Given the description of an element on the screen output the (x, y) to click on. 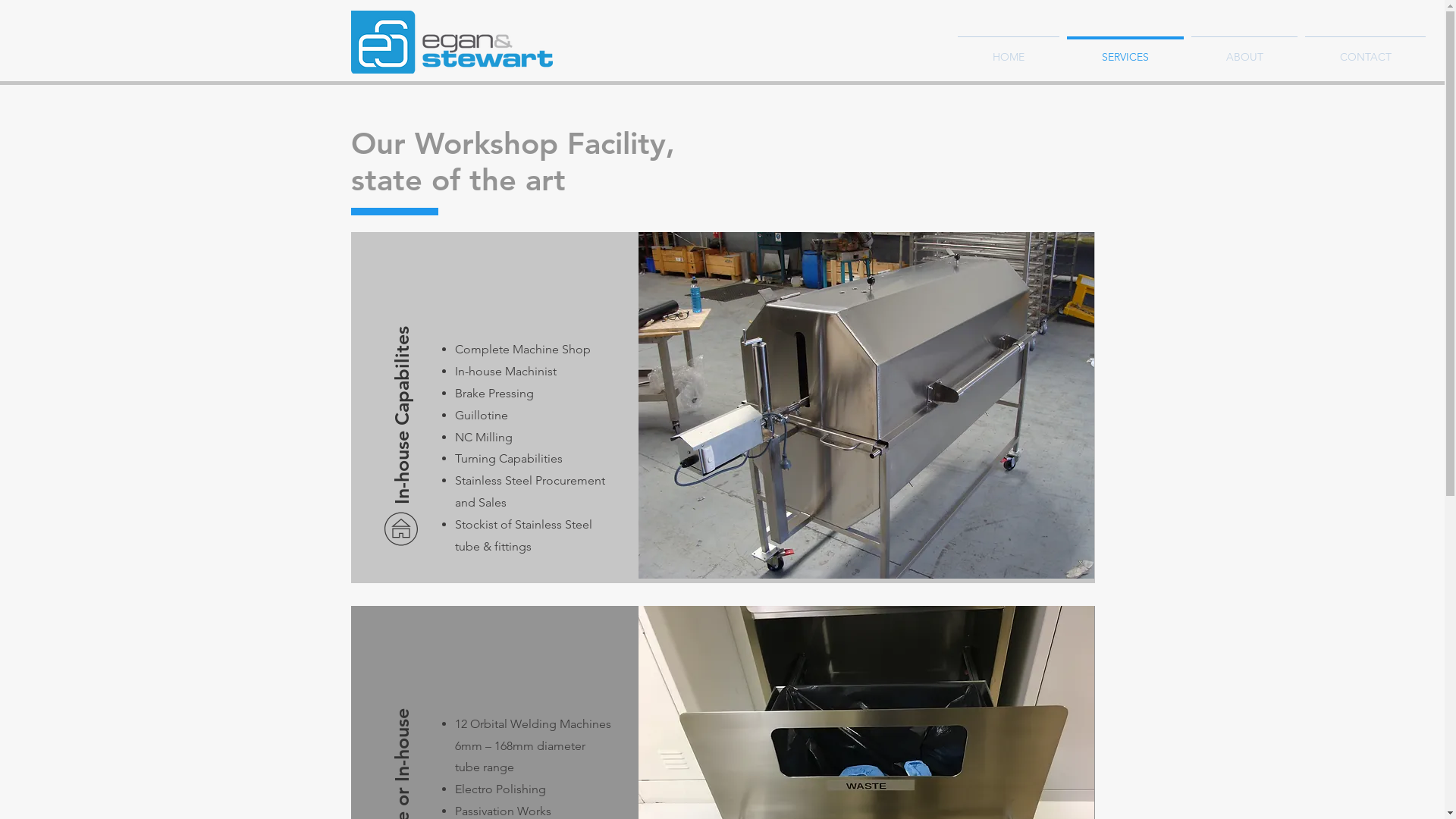
ABOUT Element type: text (1244, 50)
CONTACT Element type: text (1365, 50)
HOME Element type: text (1008, 50)
SERVICES Element type: text (1125, 50)
